Given the description of an element on the screen output the (x, y) to click on. 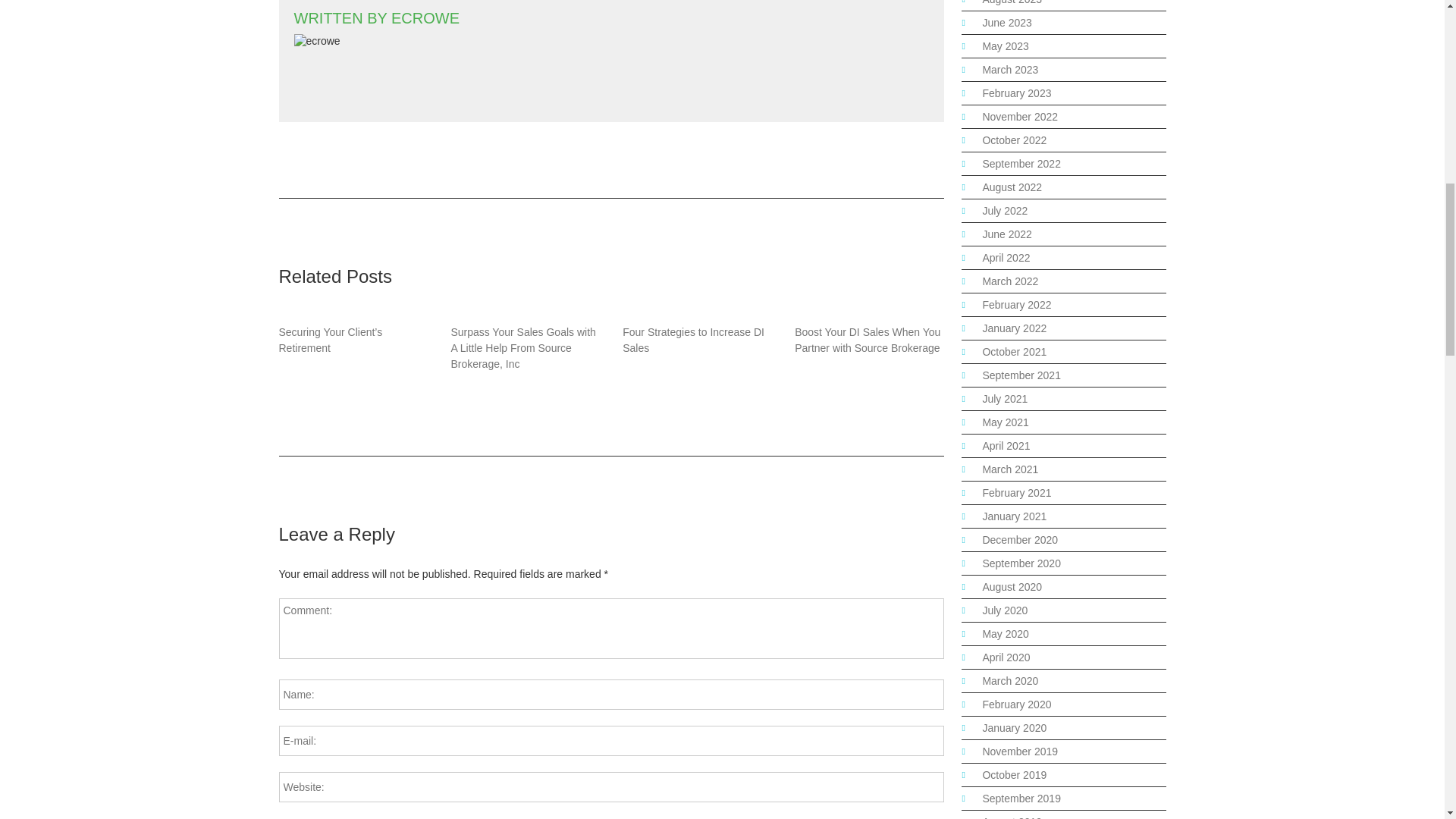
Posts by ecrowe (425, 17)
ECROWE (425, 17)
